Given the description of an element on the screen output the (x, y) to click on. 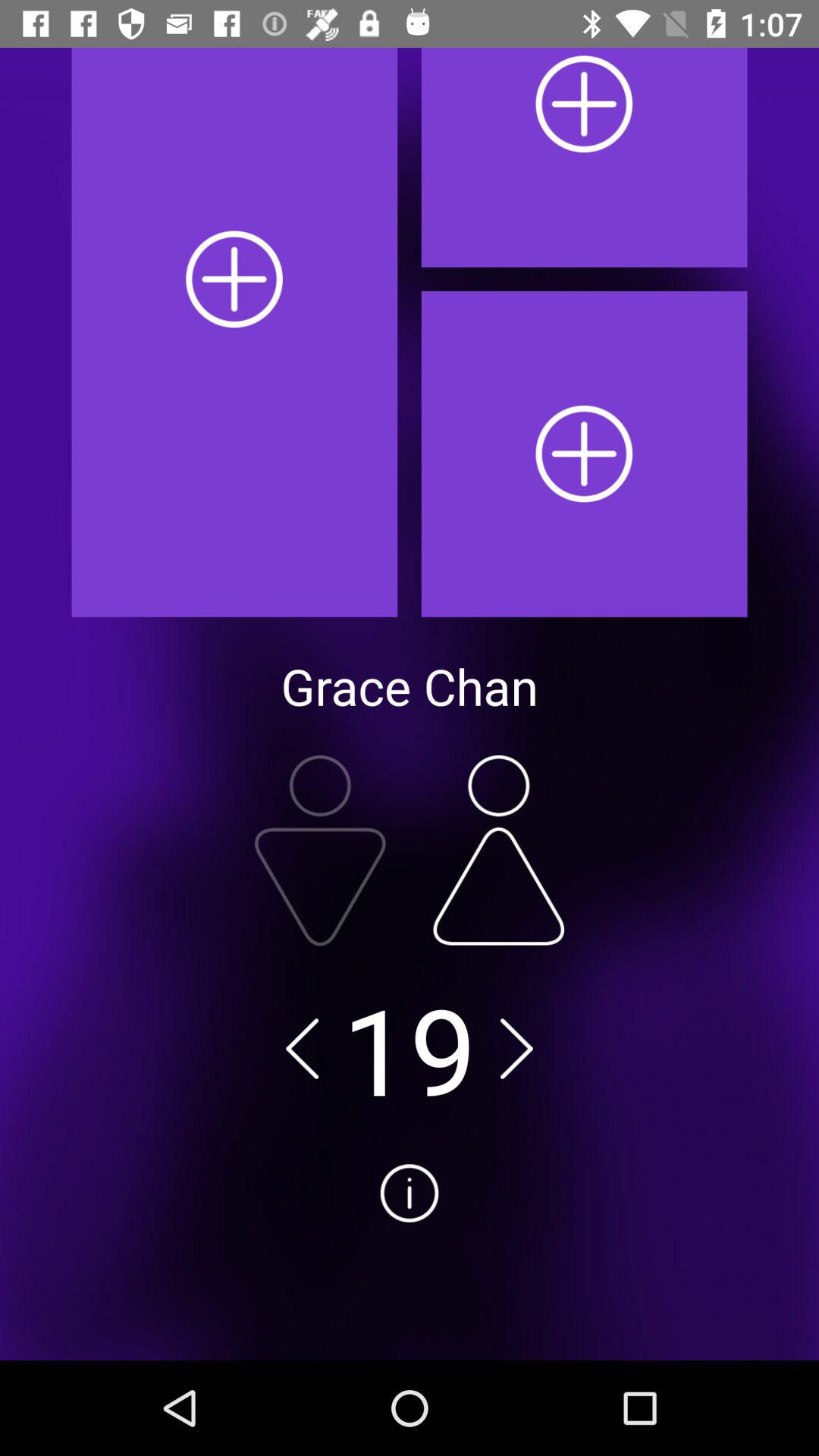
go to next number (516, 1048)
